Given the description of an element on the screen output the (x, y) to click on. 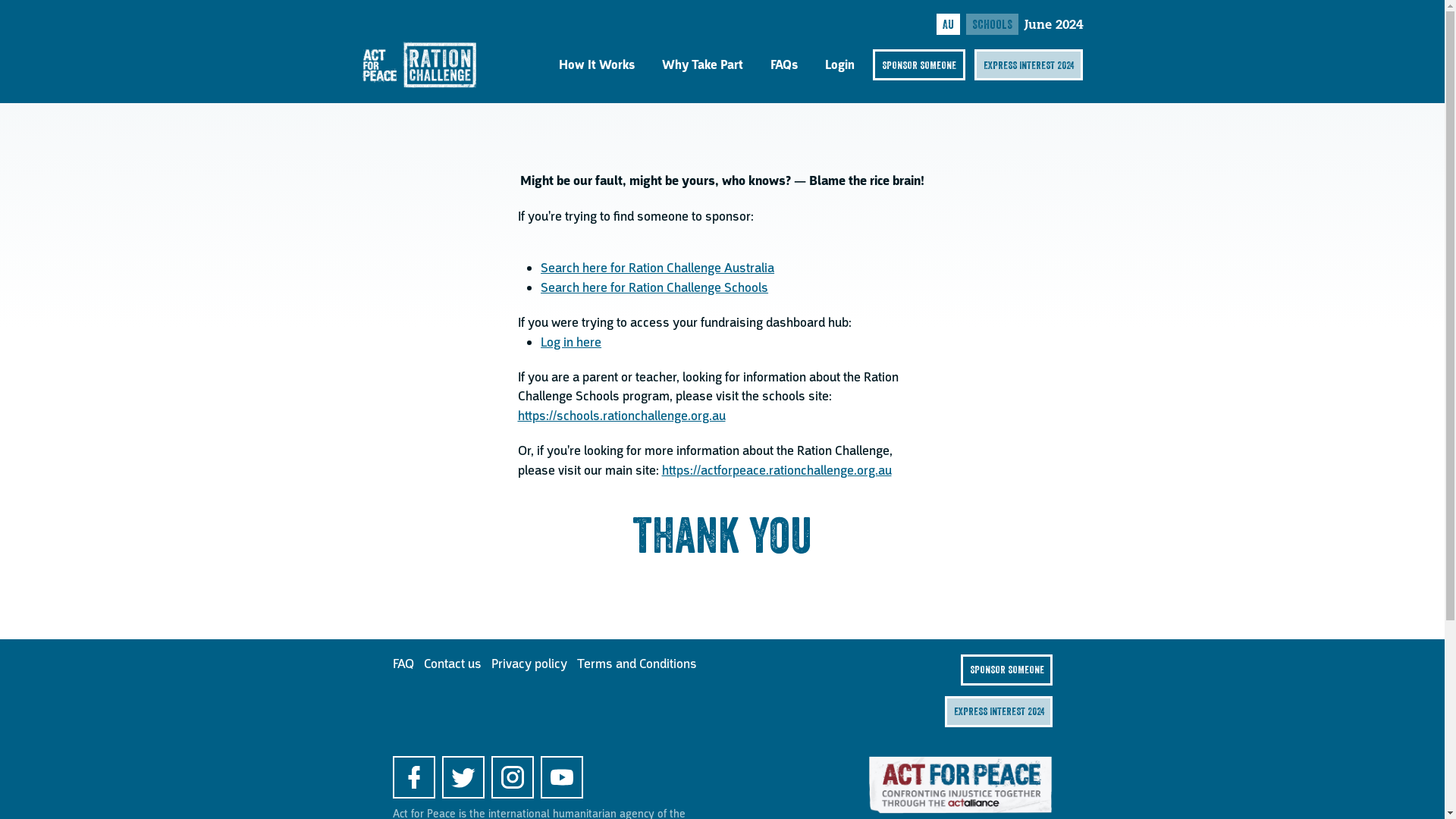
Visit our facebook page Element type: hover (413, 777)
Find us on YouTube Element type: hover (560, 777)
SPONSOR SOMEONE Element type: text (918, 64)
Search here for Ration Challenge Schools Element type: text (654, 287)
FAQ Element type: text (403, 663)
https://actforpeace.rationchallenge.org.au Element type: text (776, 469)
SPONSOR SOMEONE Element type: text (1006, 669)
How It Works Element type: text (596, 64)
Contact us Element type: text (451, 663)
https://schools.rationchallenge.org.au Element type: text (620, 415)
Privacy policy Element type: text (529, 663)
Log in here Element type: text (570, 341)
EXPRESS INTEREST 2024 Element type: text (998, 711)
Why Take Part Element type: text (702, 64)
EXPRESS INTEREST 2024 Element type: text (1028, 64)
Terms and Conditions Element type: text (636, 663)
FAQs Element type: text (783, 64)
Search here for Ration Challenge Australia Element type: text (657, 267)
Find us on Twitter Element type: hover (462, 777)
Find us on Instagram Element type: hover (512, 777)
SCHOOLS Element type: text (992, 23)
Login Element type: text (839, 64)
